Given the description of an element on the screen output the (x, y) to click on. 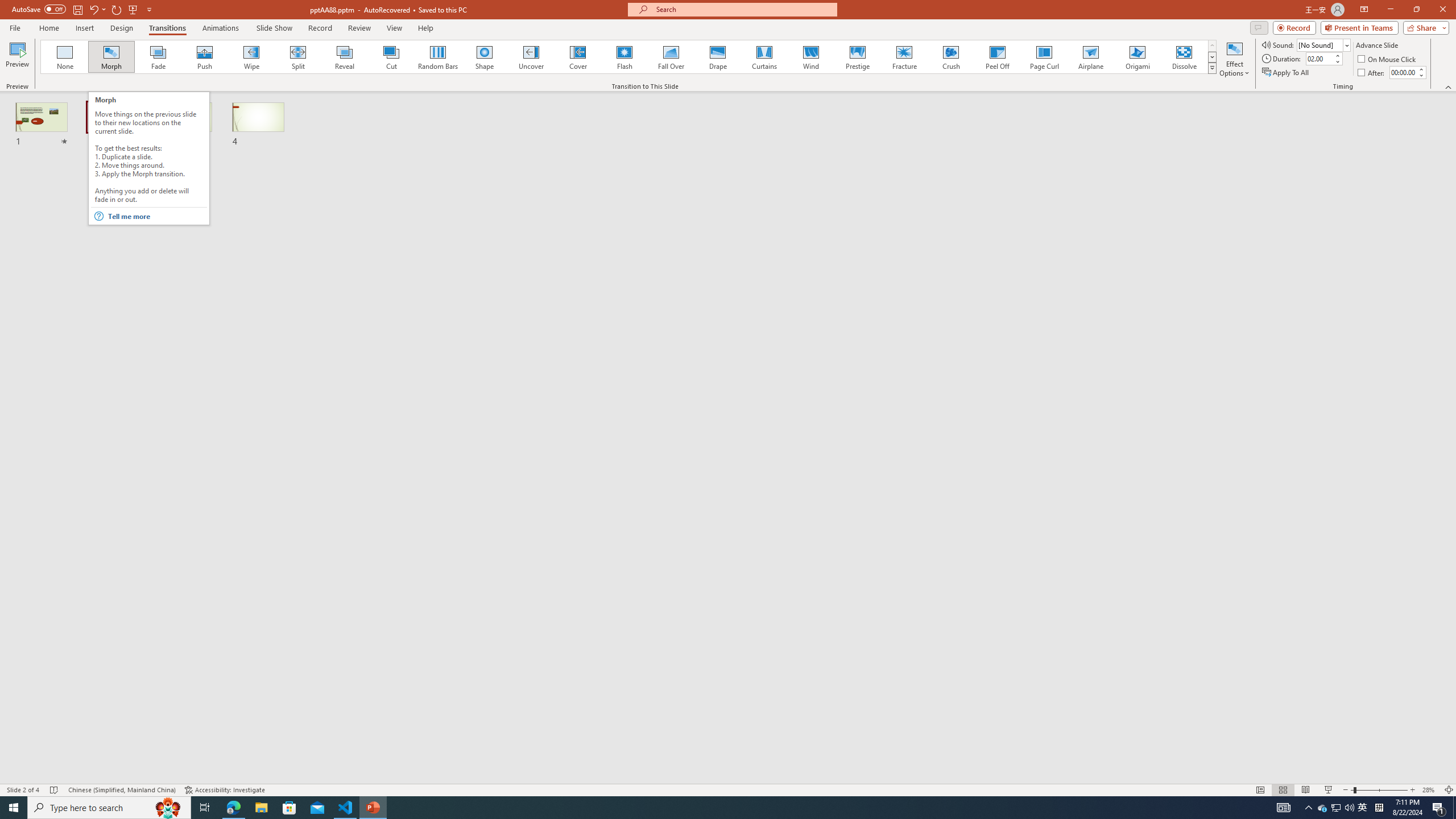
Dissolve (1183, 56)
Zoom 28% (1430, 790)
